Given the description of an element on the screen output the (x, y) to click on. 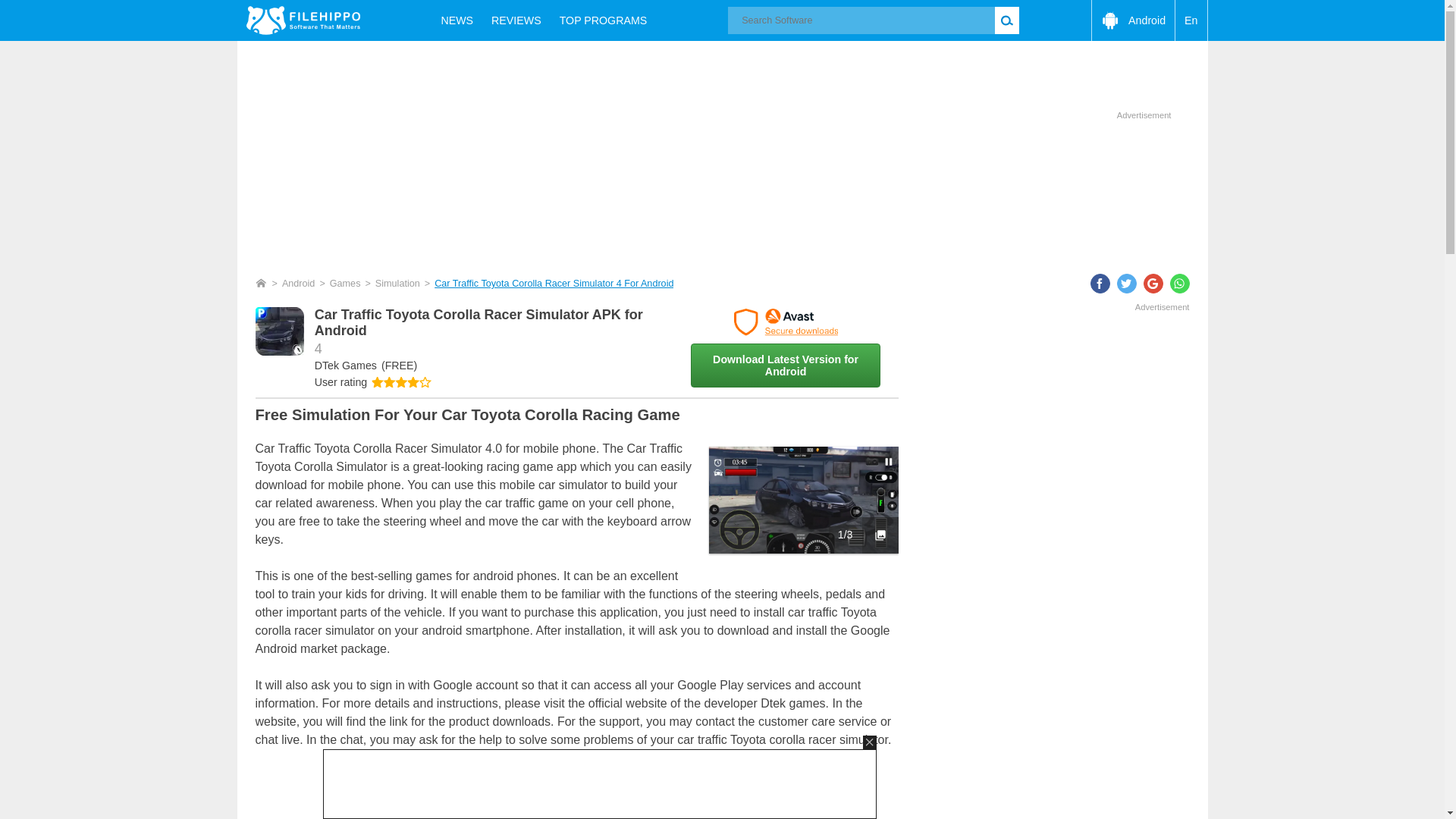
Reviews (515, 20)
TOP PROGRAMS (603, 20)
NEWS (455, 20)
REVIEWS (515, 20)
Games (345, 283)
Filehippo (302, 20)
Android (298, 283)
News (455, 20)
Car Traffic Toyota Corolla Racer Simulator 4 For Android (552, 283)
Simulation (397, 283)
Android (1133, 20)
Top Programs (603, 20)
Android (1133, 20)
